Given the description of an element on the screen output the (x, y) to click on. 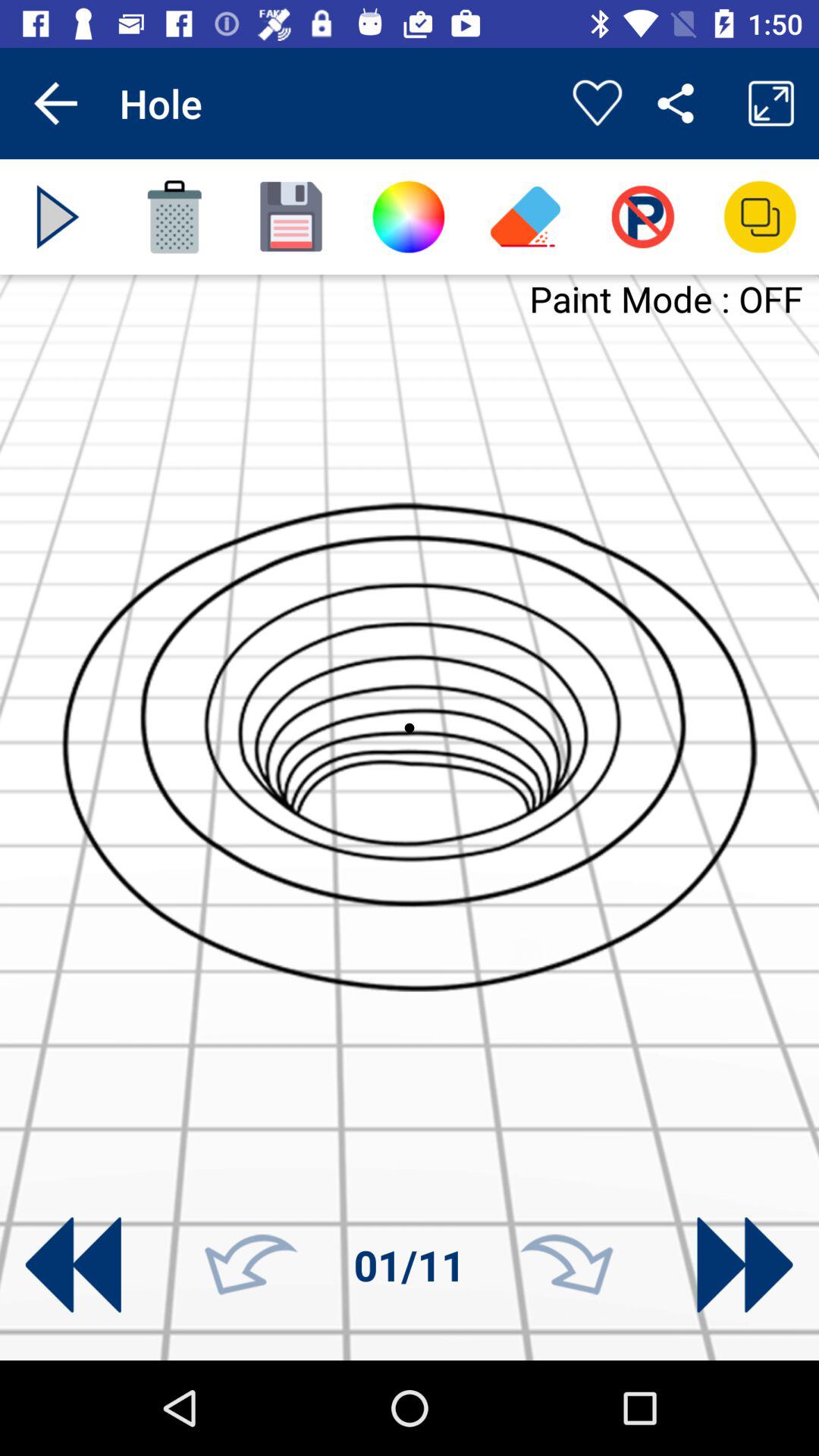
delete current page (174, 216)
